Given the description of an element on the screen output the (x, y) to click on. 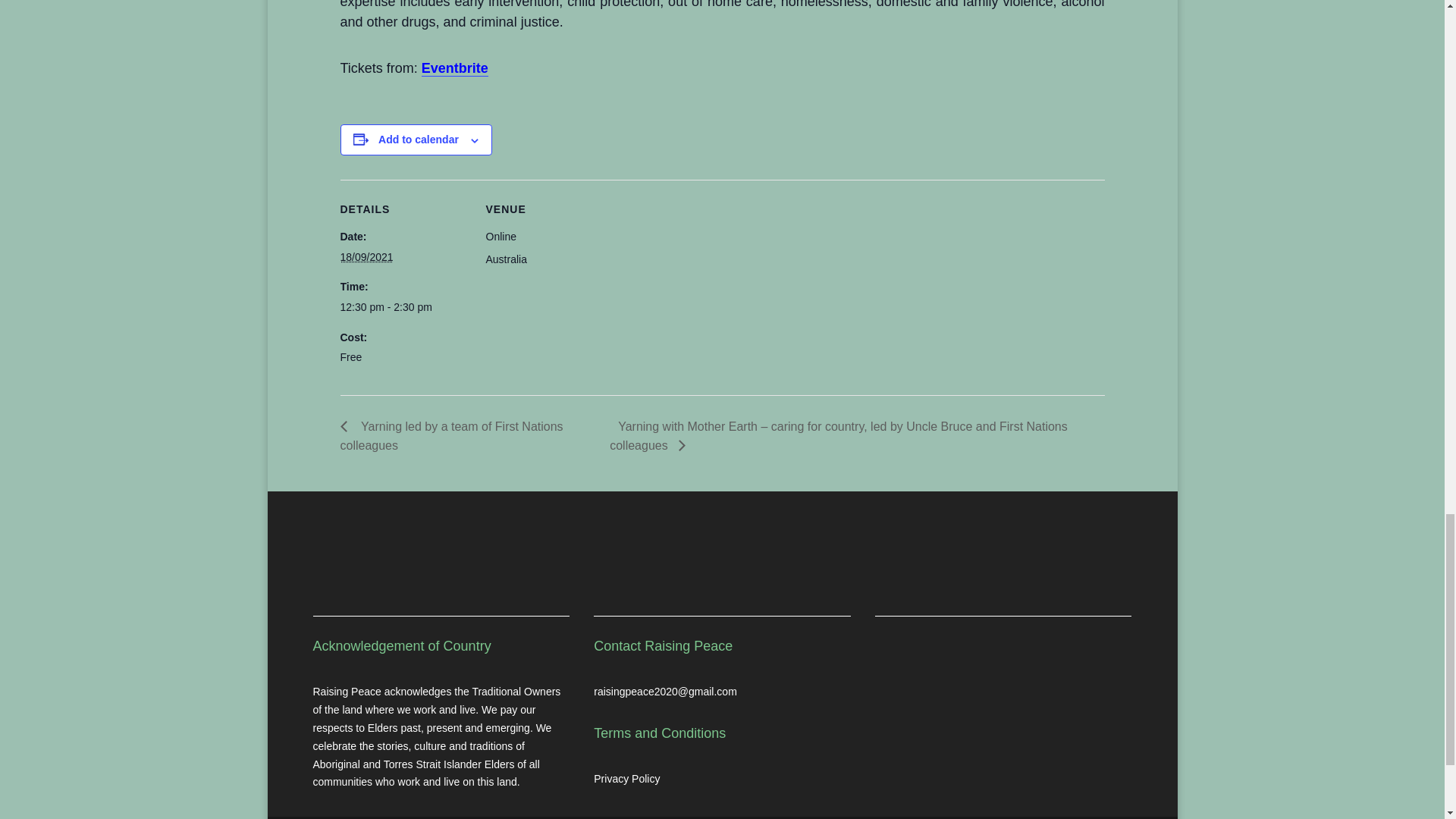
Add to calendar (418, 139)
2021-09-18 (403, 307)
2021-09-18 (366, 256)
Eventbrite (454, 68)
